Given the description of an element on the screen output the (x, y) to click on. 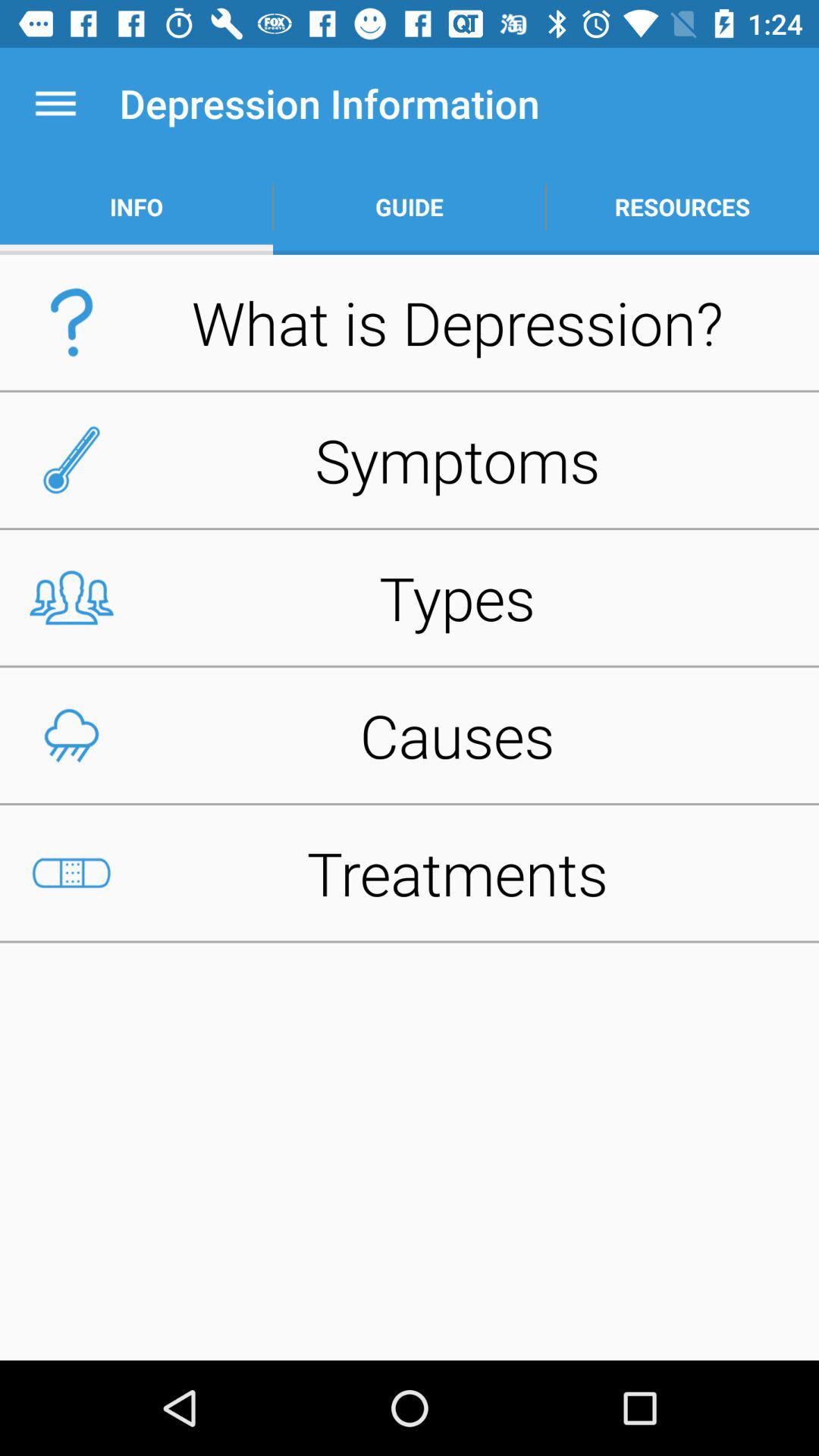
scroll until info item (136, 206)
